Given the description of an element on the screen output the (x, y) to click on. 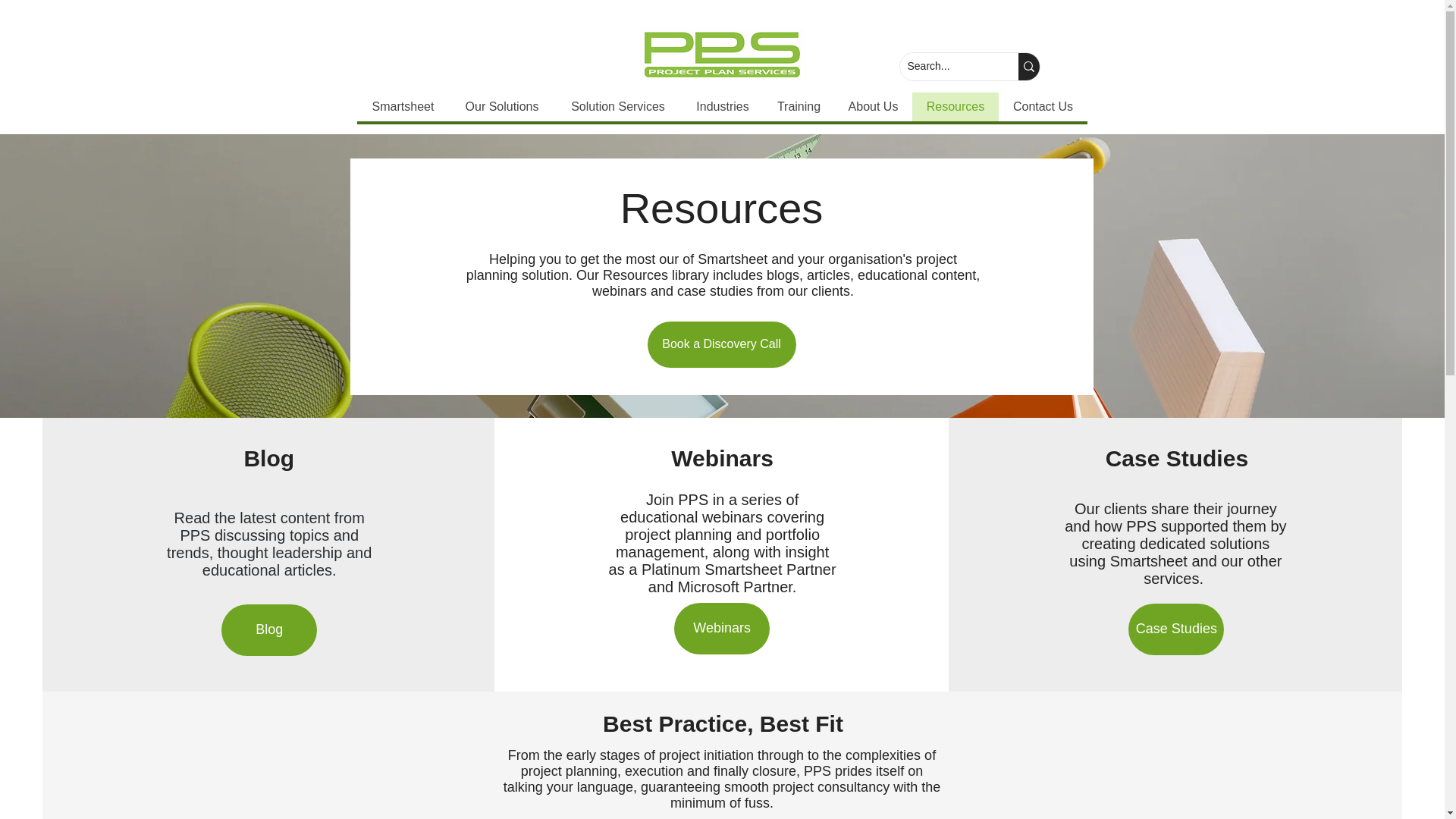
Resources (954, 106)
Smartsheet (402, 106)
Our Solutions (500, 106)
Training (797, 106)
Solution Services (617, 106)
About Us (873, 106)
